Given the description of an element on the screen output the (x, y) to click on. 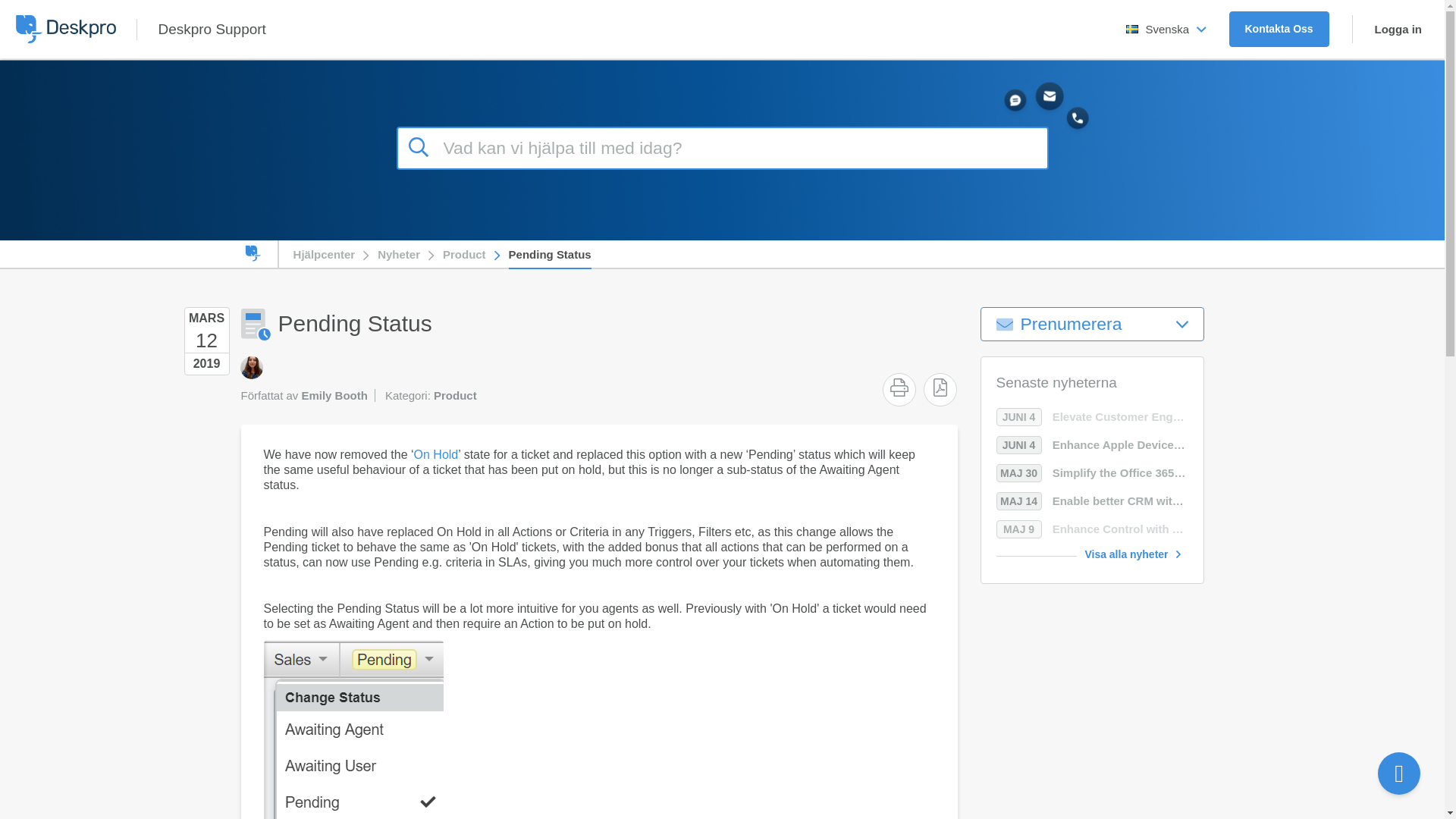
Svenska (1166, 29)
Deskpro Support (210, 29)
Emily Booth (250, 367)
Skriv ut (898, 387)
Skriv ut (898, 387)
